Given the description of an element on the screen output the (x, y) to click on. 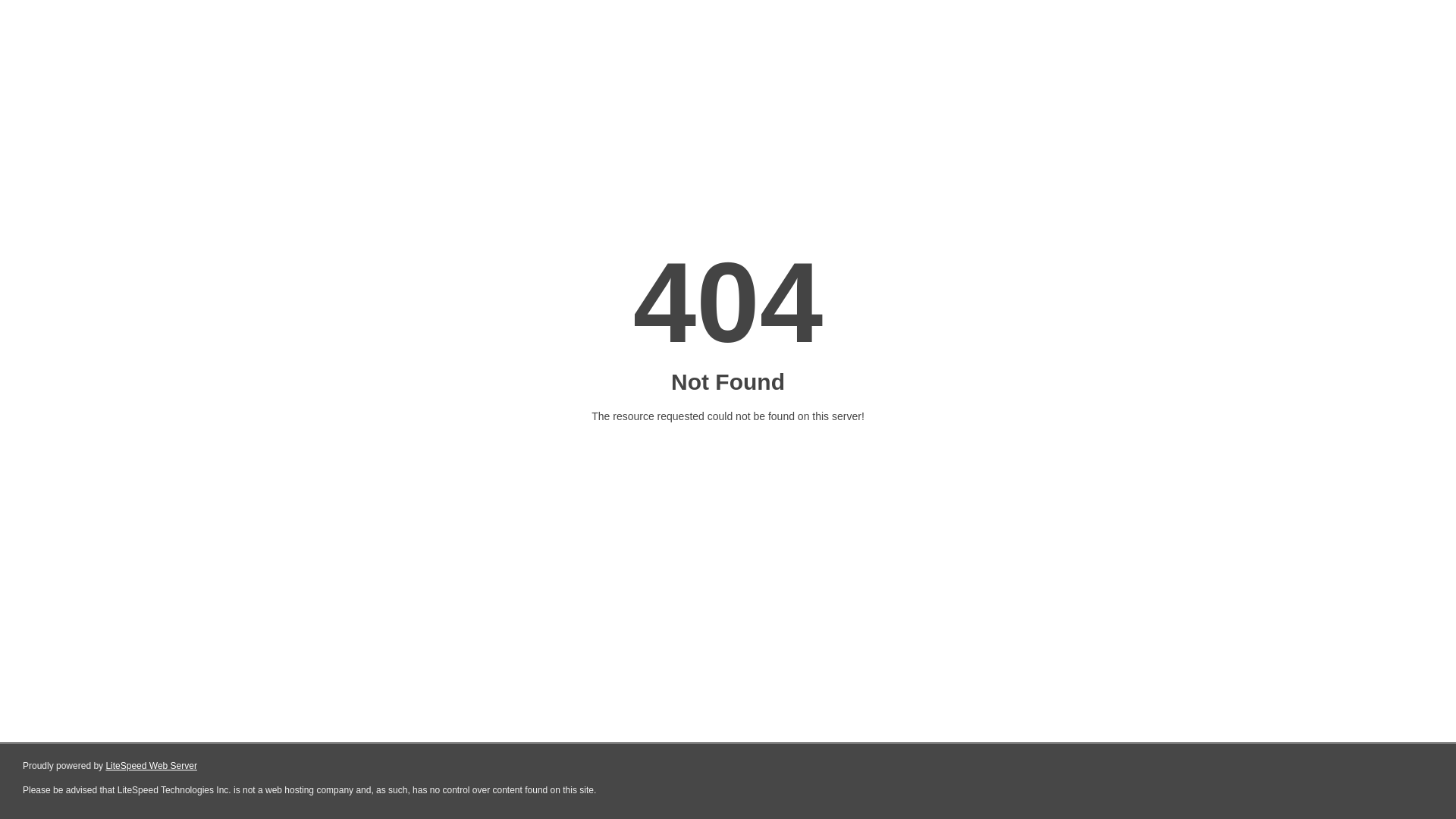
LiteSpeed Web Server Element type: text (151, 765)
